Given the description of an element on the screen output the (x, y) to click on. 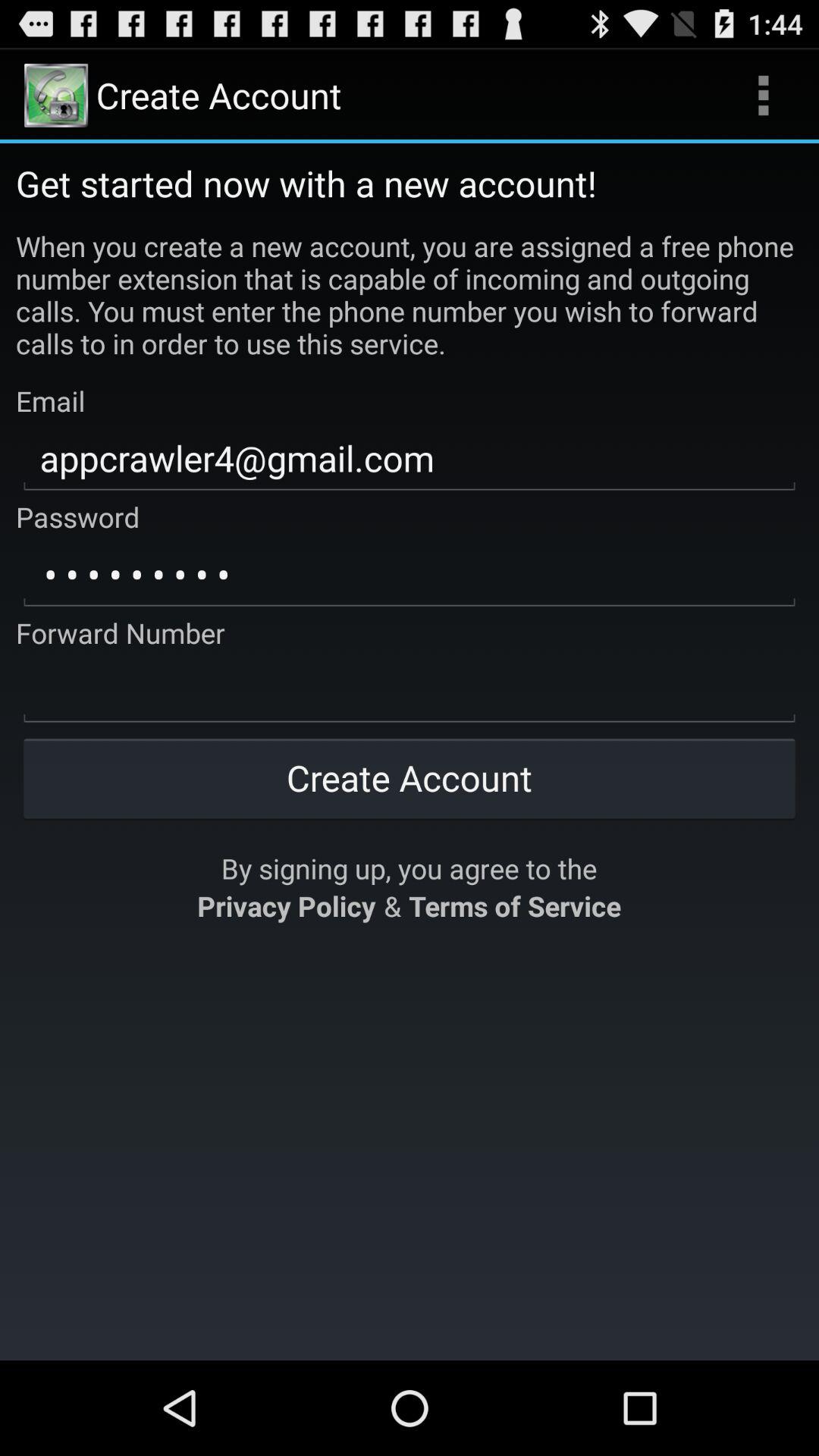
the field is used to fill in the forward number (409, 690)
